Given the description of an element on the screen output the (x, y) to click on. 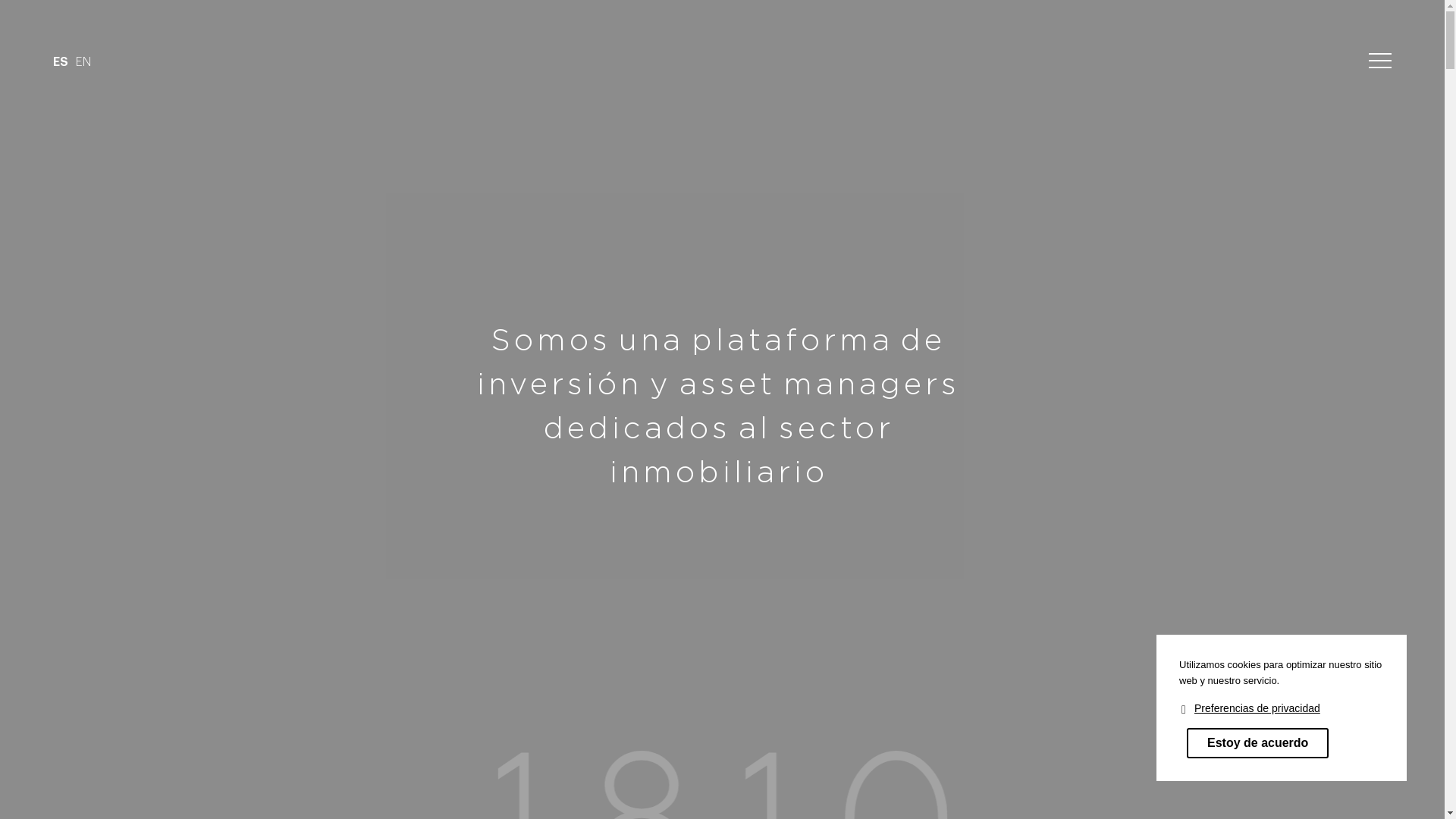
Open Menu Element type: text (1379, 60)
EN Element type: text (83, 62)
Estoy de acuerdo Element type: text (1257, 743)
Preferencias de privacidad Element type: text (1256, 708)
